Given the description of an element on the screen output the (x, y) to click on. 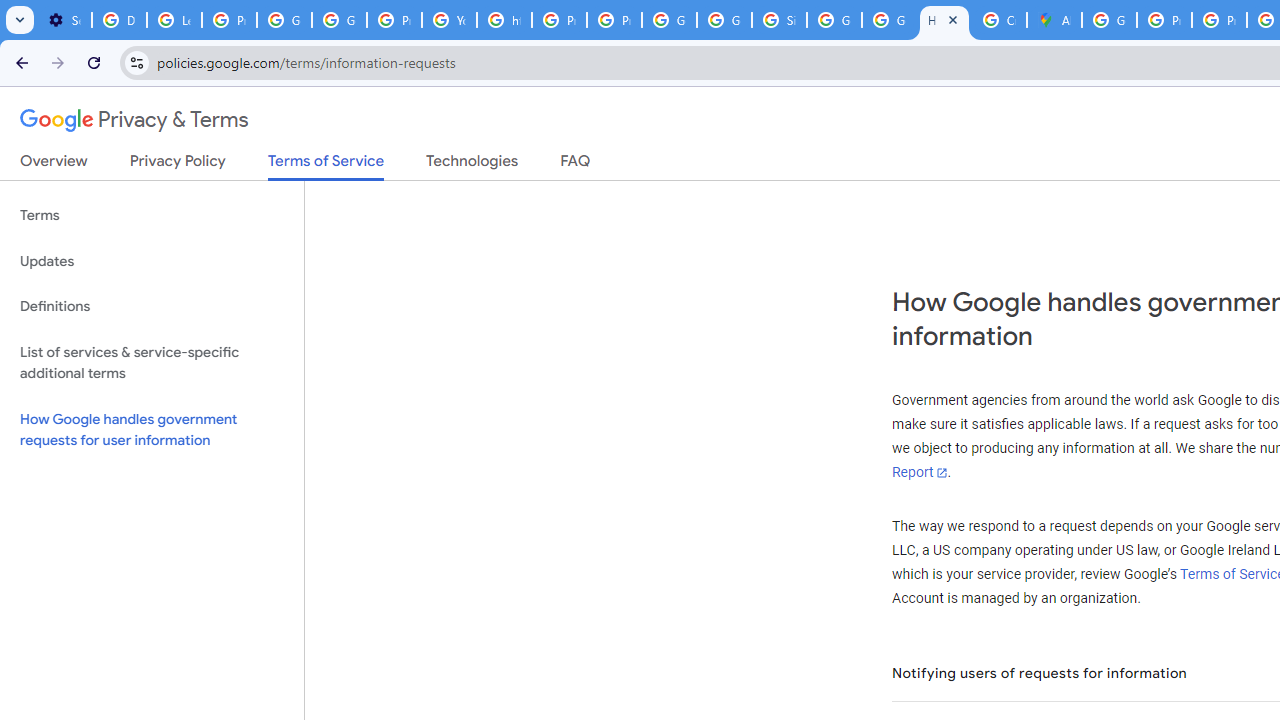
Privacy Help Center - Policies Help (559, 20)
Google Account Help (284, 20)
Create your Google Account (998, 20)
Privacy Help Center - Policies Help (1218, 20)
